Given the description of an element on the screen output the (x, y) to click on. 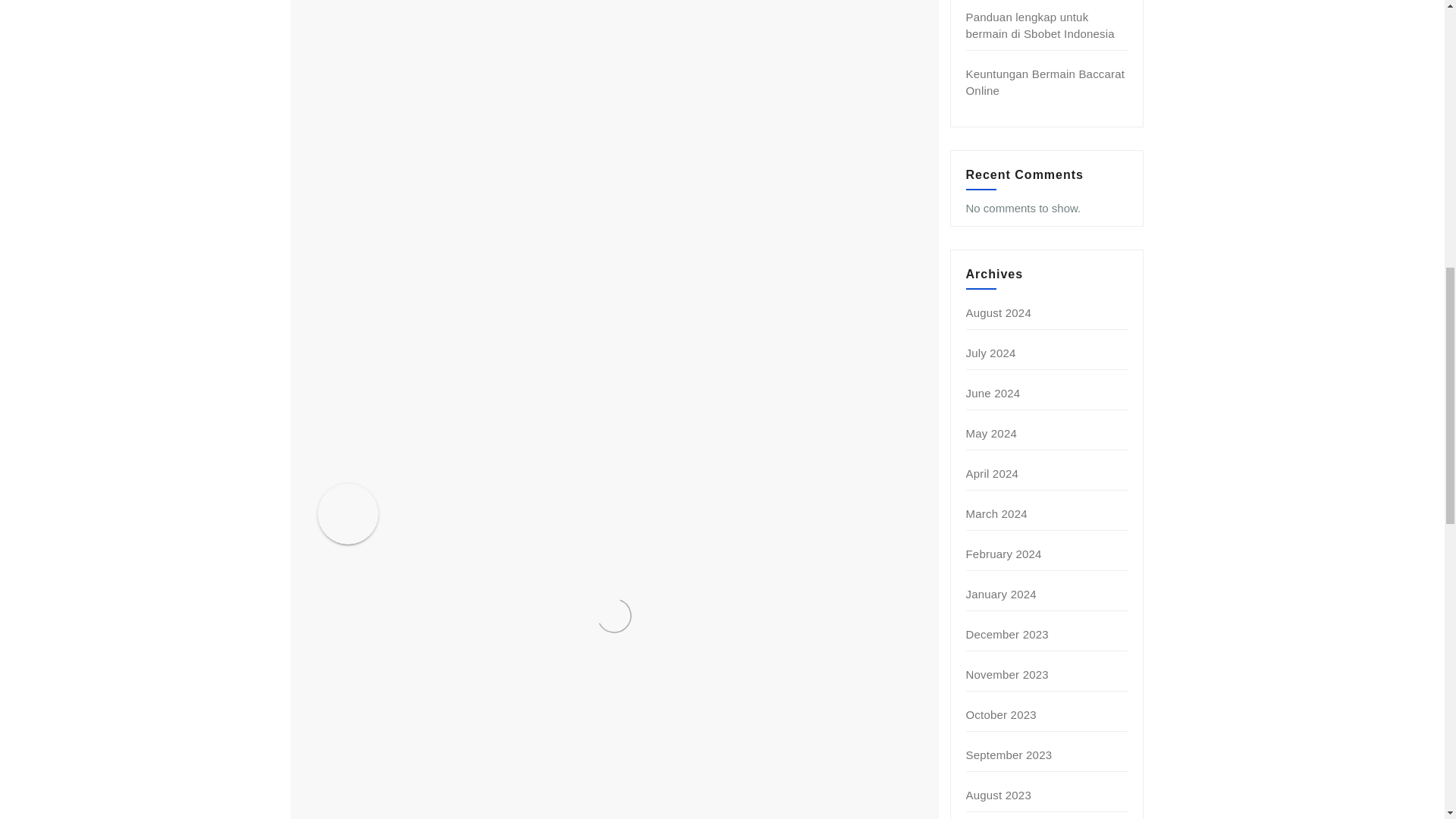
November 2023 (1007, 674)
Panduan lengkap untuk bermain di Sbobet Indonesia (1040, 25)
September 2023 (1009, 754)
December 2023 (1007, 634)
June 2024 (993, 392)
March 2024 (996, 513)
August 2024 (998, 312)
February 2024 (1004, 553)
October 2023 (1001, 714)
May 2024 (991, 432)
April 2024 (992, 472)
January 2024 (1001, 594)
Keuntungan Bermain Baccarat Online (1045, 82)
July 2024 (991, 352)
August 2023 (998, 794)
